Given the description of an element on the screen output the (x, y) to click on. 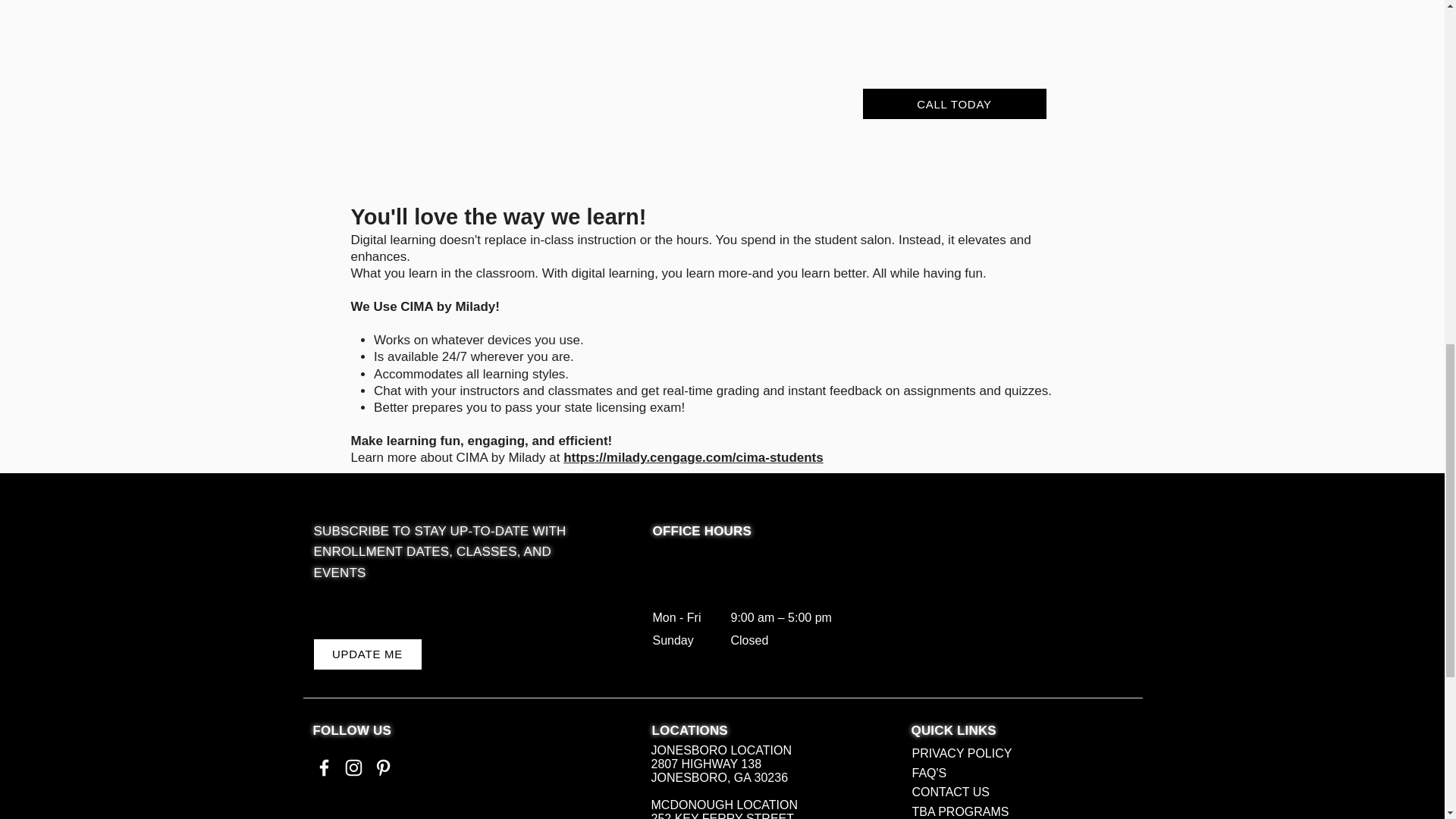
CONTACT US (950, 791)
PRIVACY POLICY (961, 753)
CALL TODAY (954, 103)
UPDATE ME (368, 654)
TBA PROGRAMS (960, 811)
FAQ'S (928, 772)
